Given the description of an element on the screen output the (x, y) to click on. 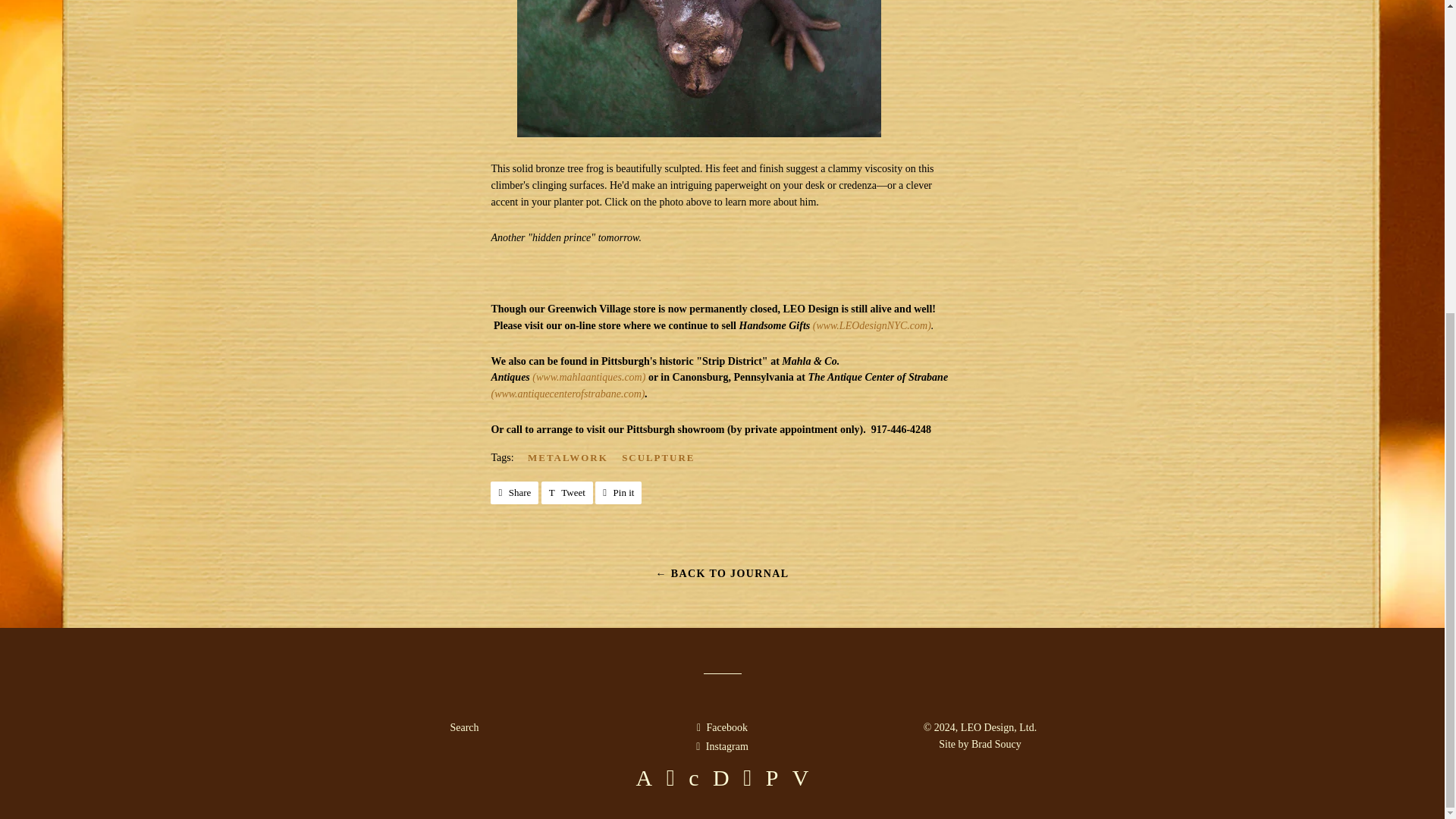
Share on Facebook (514, 492)
METALWORK (514, 492)
LEO Design, Ltd. on Instagram (573, 457)
Instagram (721, 746)
SCULPTURE (618, 492)
LEO Design, Ltd. (566, 492)
Link to Leo Design Website and On-Line Store (721, 746)
LEO Design, Ltd. on Facebook (663, 457)
Tweet on Twitter (998, 727)
Search (871, 325)
Pin on Pinterest (722, 727)
Facebook (566, 492)
